Given the description of an element on the screen output the (x, y) to click on. 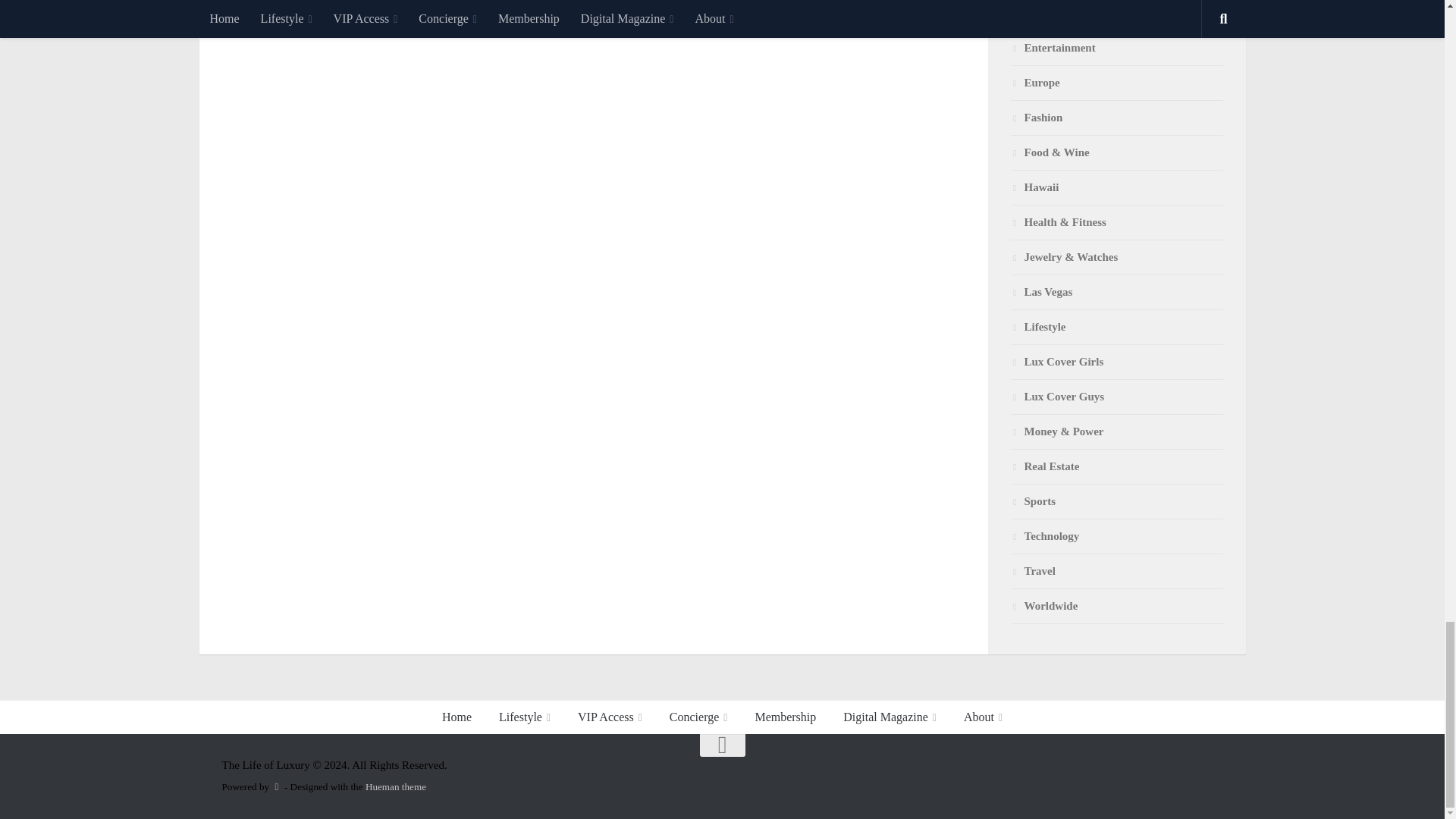
Hueman theme (395, 786)
Powered by WordPress (275, 786)
